Given the description of an element on the screen output the (x, y) to click on. 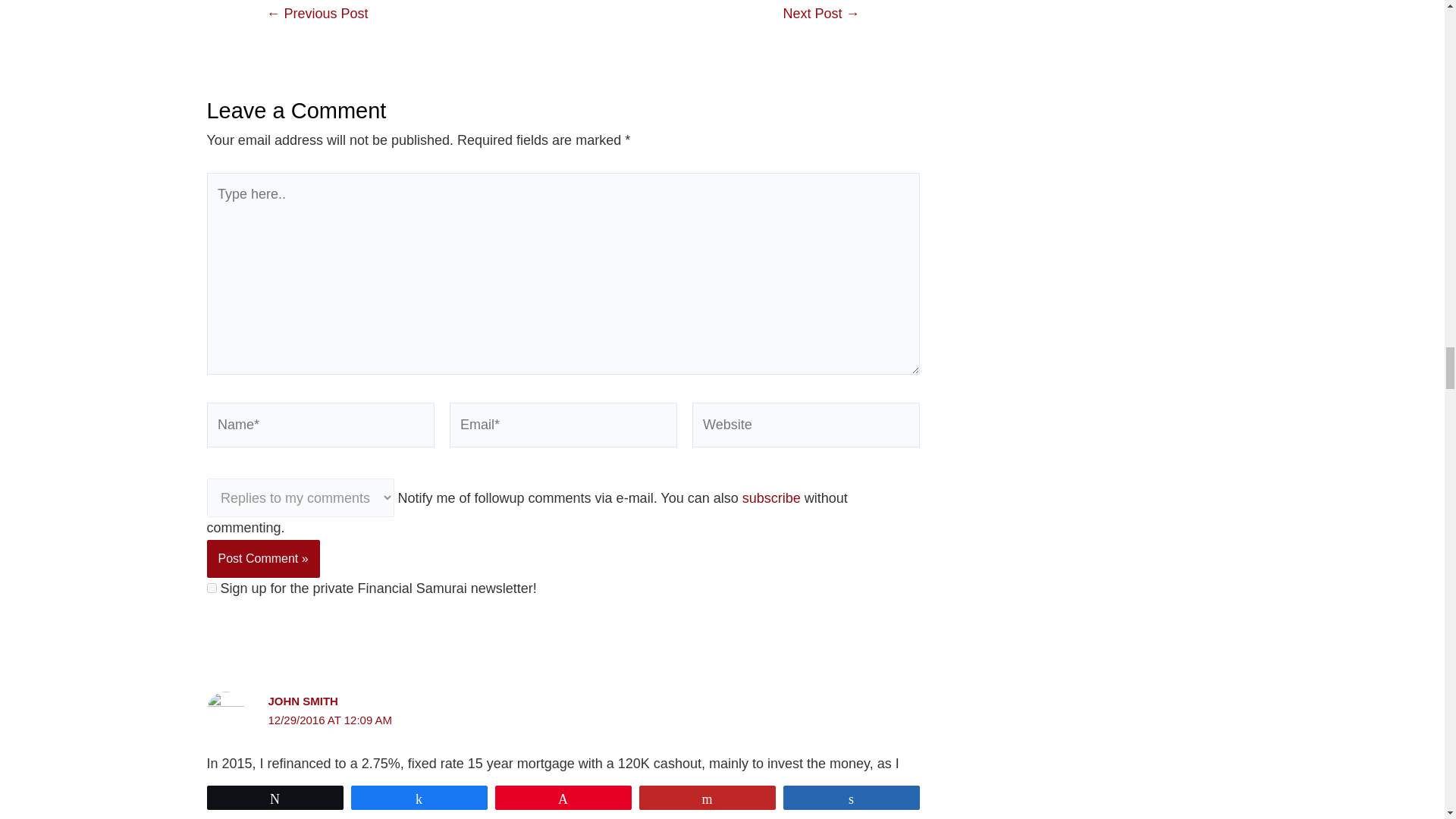
What Are You Buying On Black Friday Weekend? (317, 13)
1 (210, 587)
Let's Prevent The Government From Hurting The Poor Even More (820, 13)
